Given the description of an element on the screen output the (x, y) to click on. 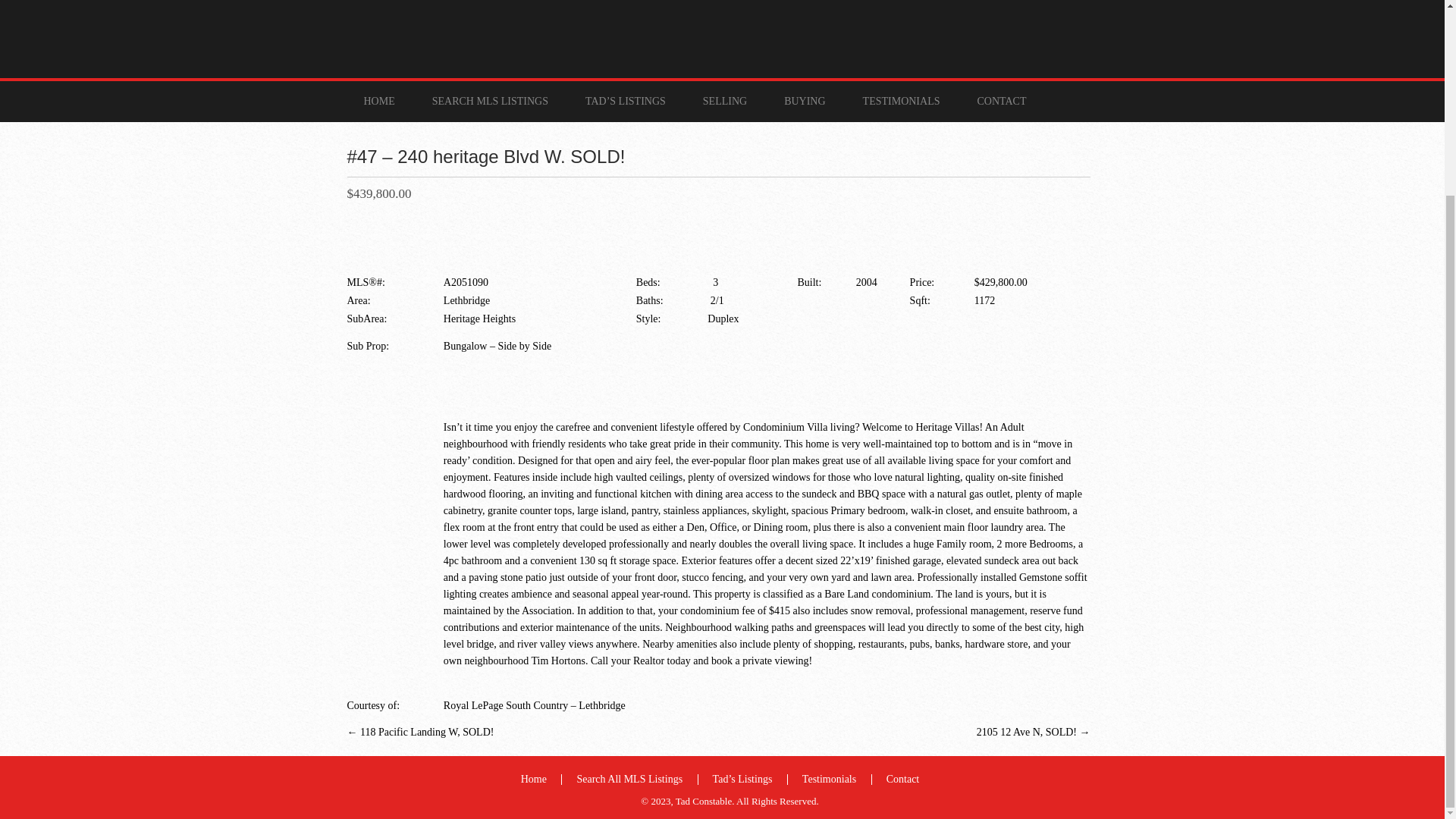
TESTIMONIALS (900, 101)
BUYING (804, 101)
Home (534, 778)
Search All MLS Listings (629, 778)
Testimonials (829, 778)
SEARCH MLS LISTINGS (489, 101)
CONTACT (1000, 101)
SELLING (723, 101)
HOME (379, 101)
Contact (903, 778)
